Given the description of an element on the screen output the (x, y) to click on. 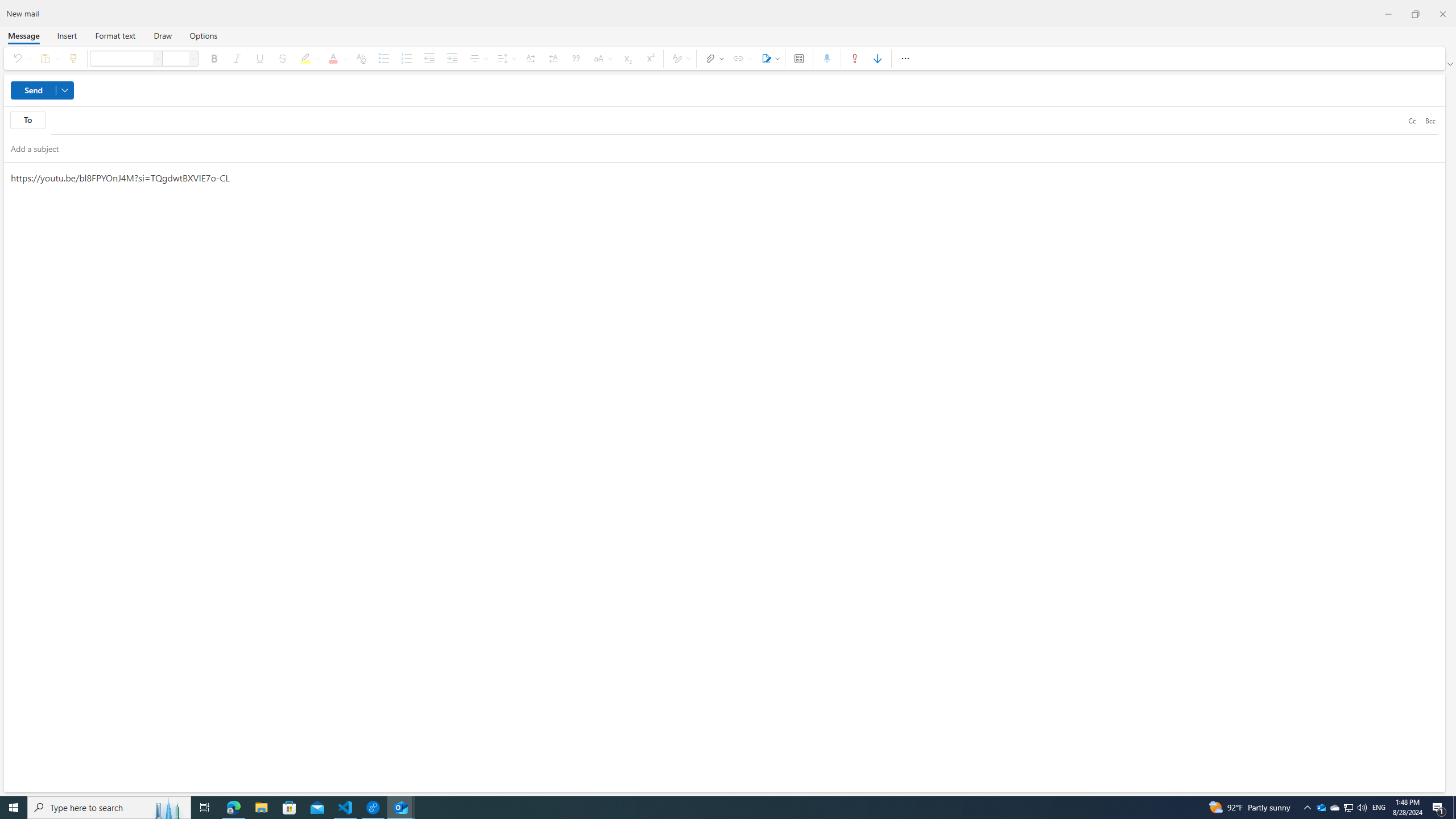
Format painter (73, 58)
Styles (679, 58)
To (726, 120)
Align (477, 58)
Options (202, 35)
